Given the description of an element on the screen output the (x, y) to click on. 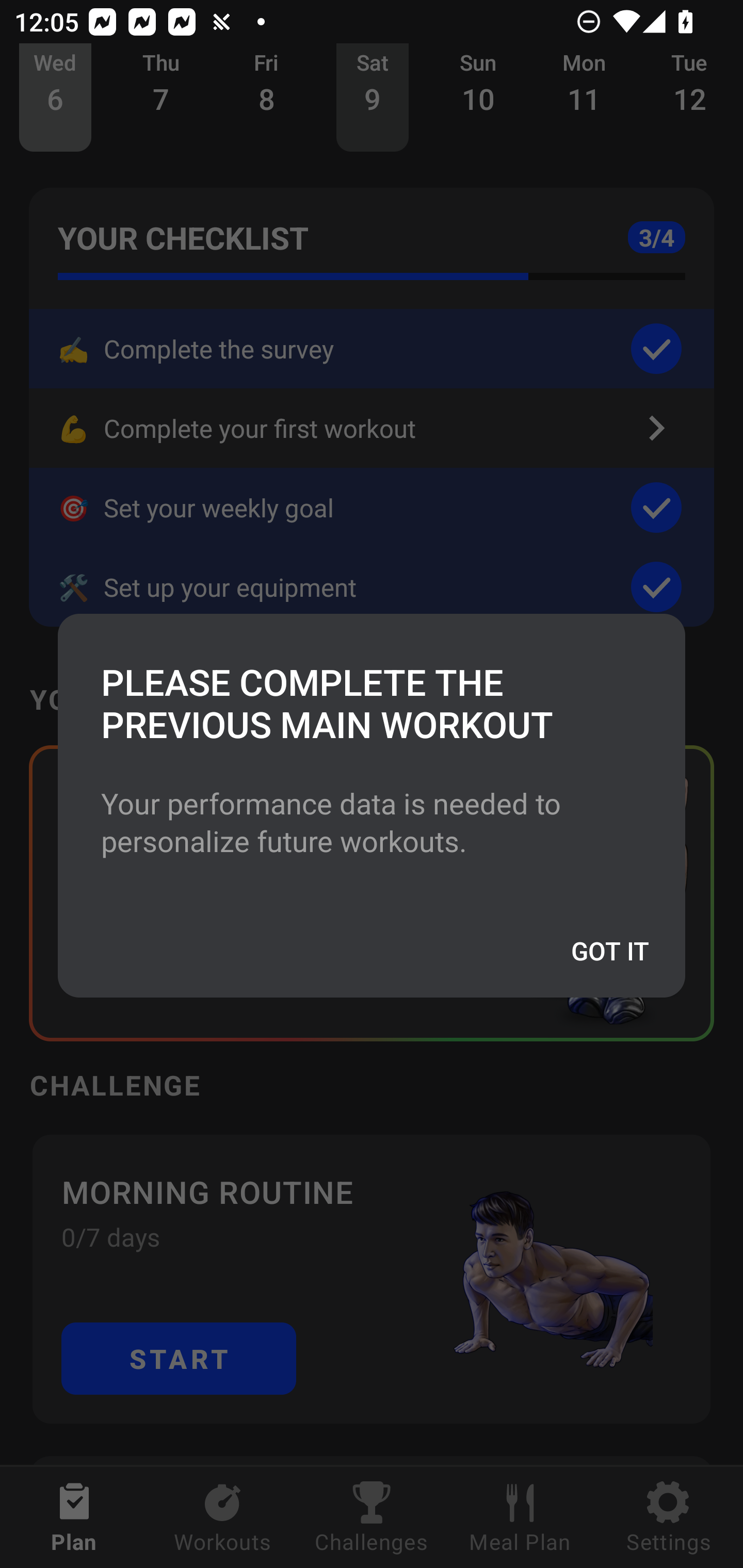
GOT IT (609, 950)
